Given the description of an element on the screen output the (x, y) to click on. 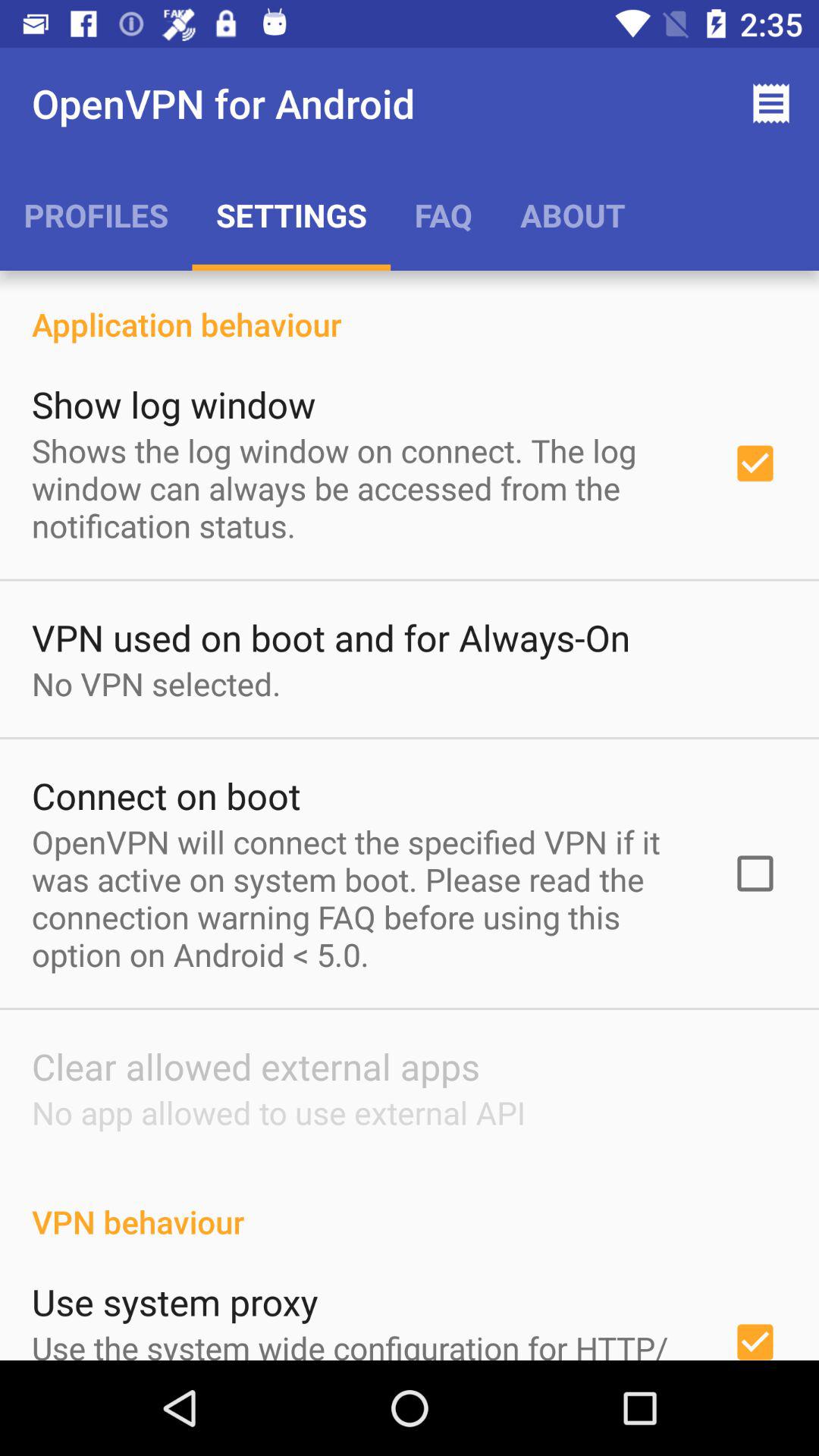
turn off no app allowed icon (278, 1112)
